Given the description of an element on the screen output the (x, y) to click on. 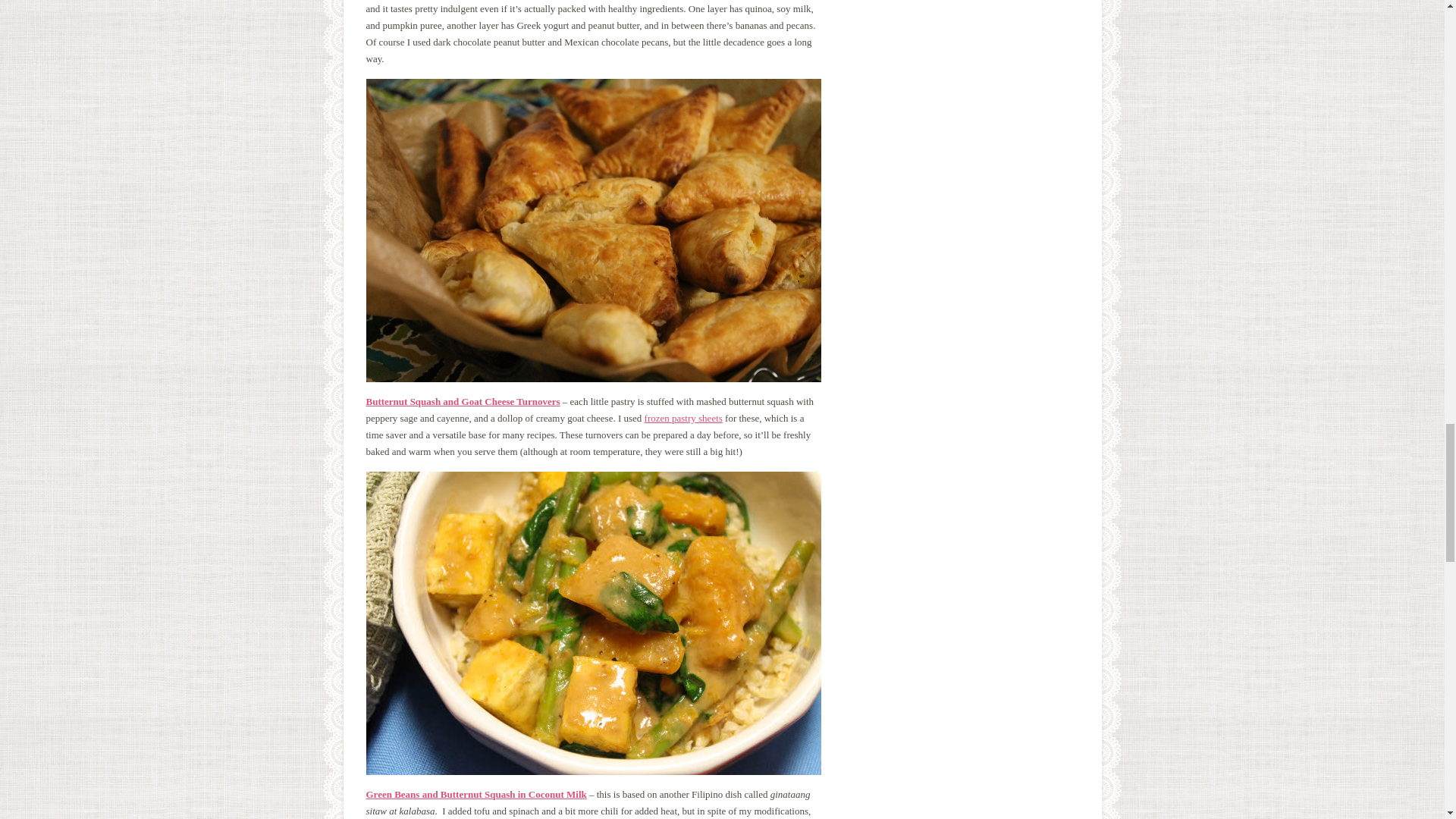
Butternut Squash and Goat Cheese Turnovers (462, 401)
Green Beans and Butternut Squash in Coconut Milk (475, 794)
frozen pastry sheets (683, 418)
